Given the description of an element on the screen output the (x, y) to click on. 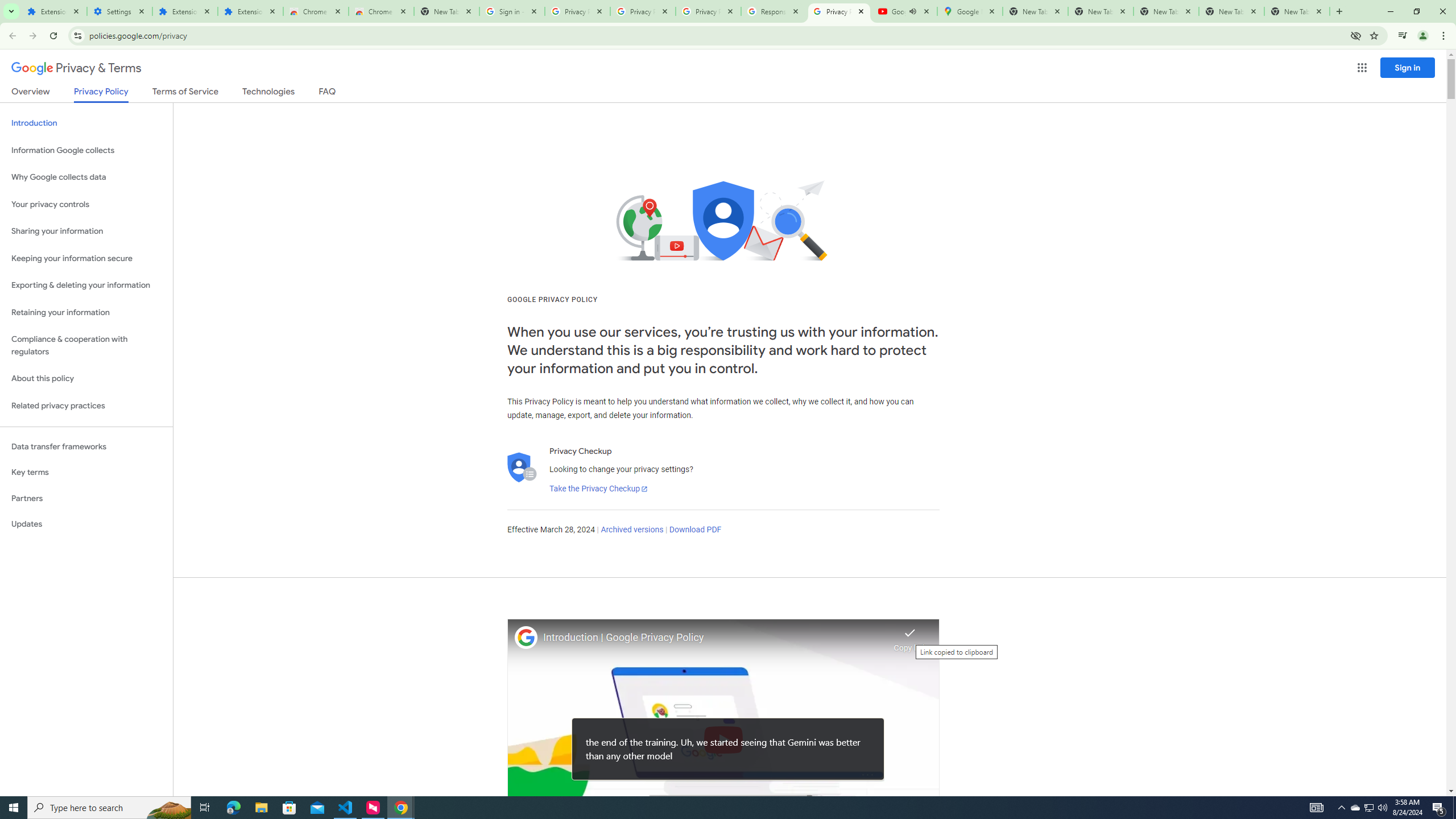
Play (723, 739)
Why Google collects data (86, 176)
Take the Privacy Checkup (597, 488)
Key terms (86, 472)
Google Maps (969, 11)
Exporting & deleting your information (86, 284)
Photo image of Google (526, 636)
